Given the description of an element on the screen output the (x, y) to click on. 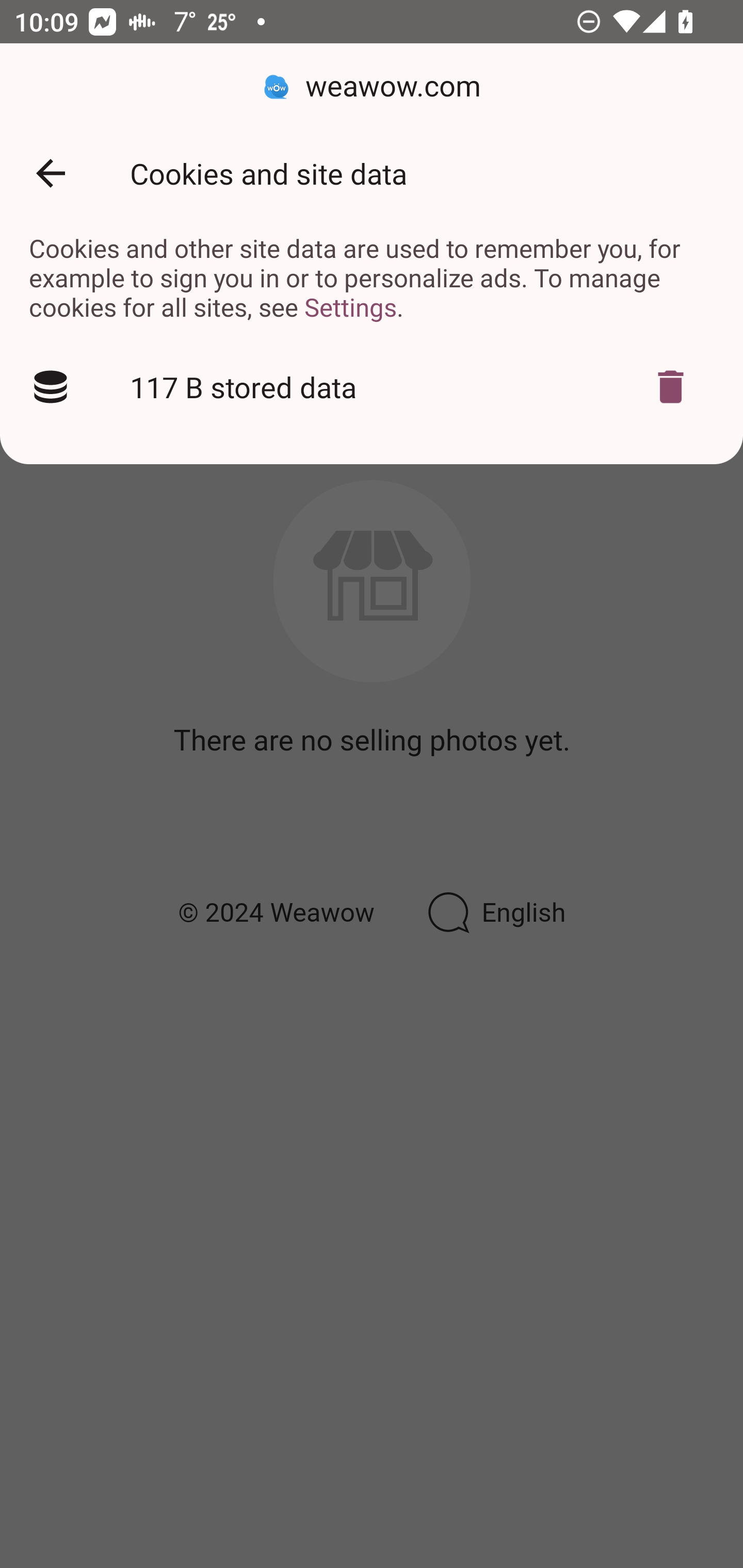
weawow.com (371, 86)
Back (50, 173)
117 B stored data Delete cookies? (371, 386)
